Given the description of an element on the screen output the (x, y) to click on. 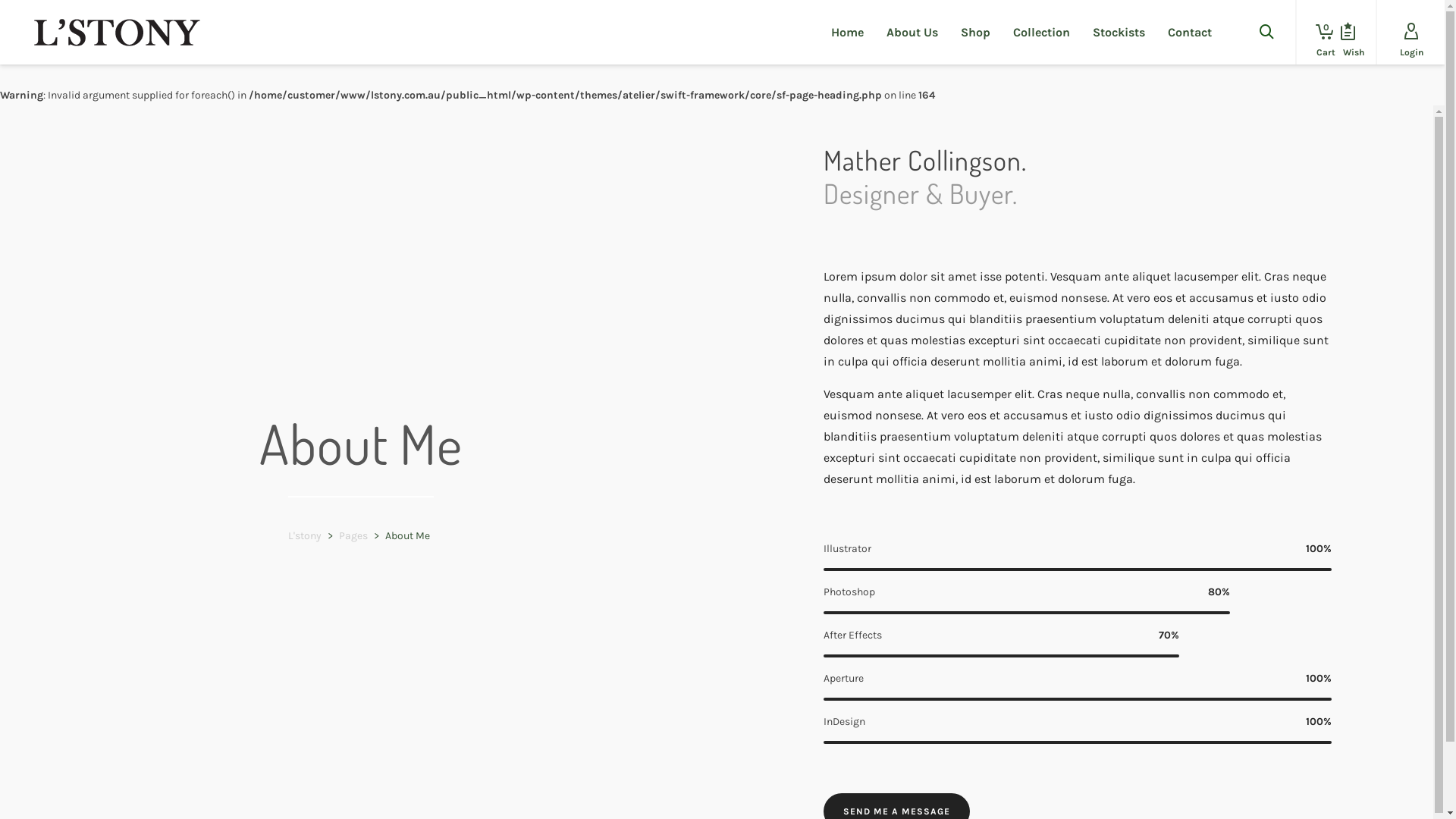
Pages Element type: text (352, 535)
About Us Element type: text (912, 32)
Contact Element type: text (1189, 32)
0 Element type: text (1319, 32)
L'stony Element type: text (304, 535)
Shop Element type: text (975, 32)
Collection Element type: text (1041, 32)
View your wishlist Element type: hover (1347, 32)
Stockists Element type: text (1118, 32)
Home Element type: text (847, 32)
